Given the description of an element on the screen output the (x, y) to click on. 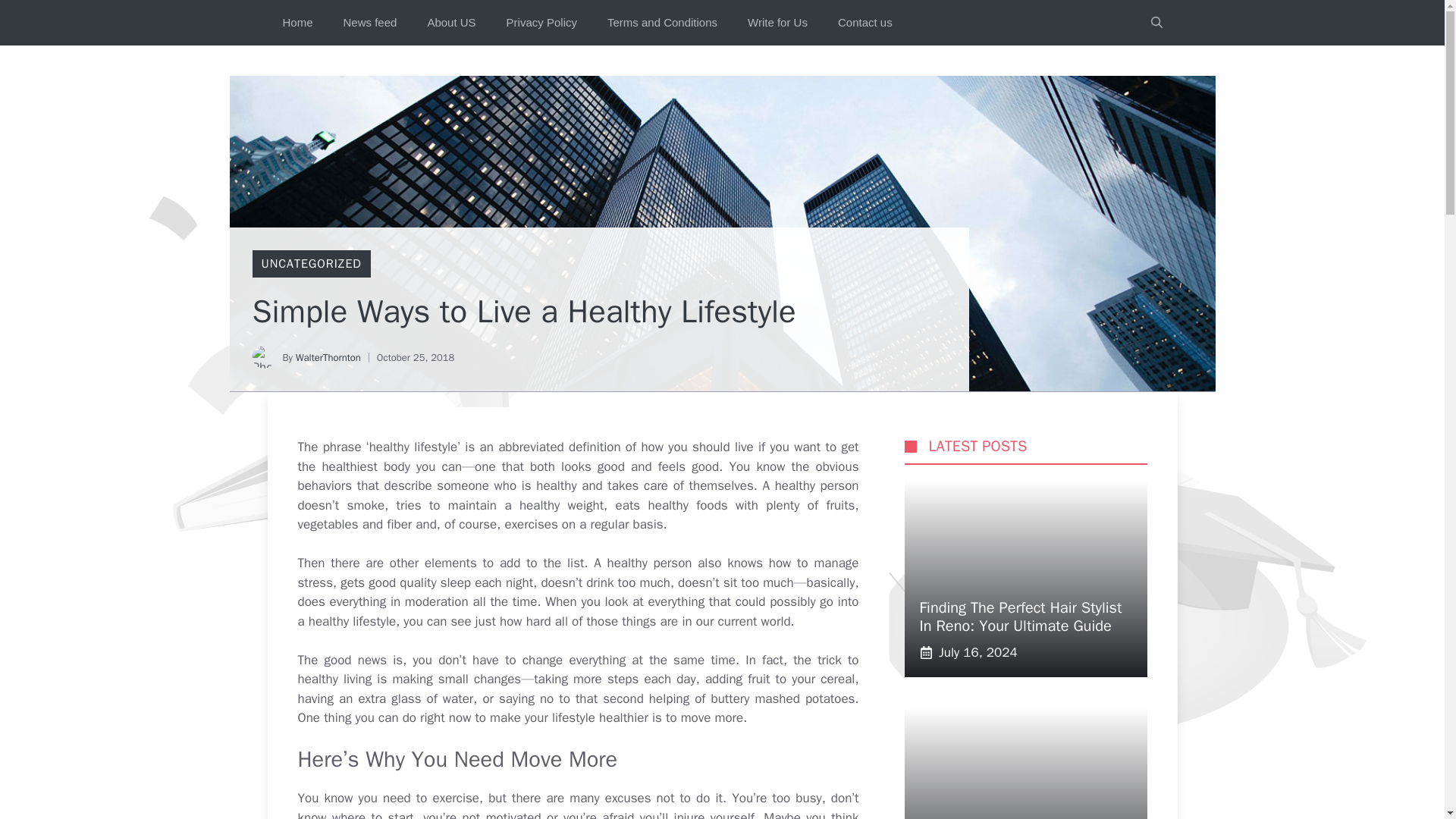
not motivated (502, 814)
Write for Us (777, 22)
Privacy Policy (542, 22)
Contact us (864, 22)
WalterThornton (328, 357)
UNCATEGORIZED (310, 263)
change everything (574, 659)
News feed (370, 22)
excuses (627, 797)
move more (712, 717)
Home (296, 22)
exercises on a regular basis (582, 524)
About US (451, 22)
Terms and Conditions (662, 22)
